Given the description of an element on the screen output the (x, y) to click on. 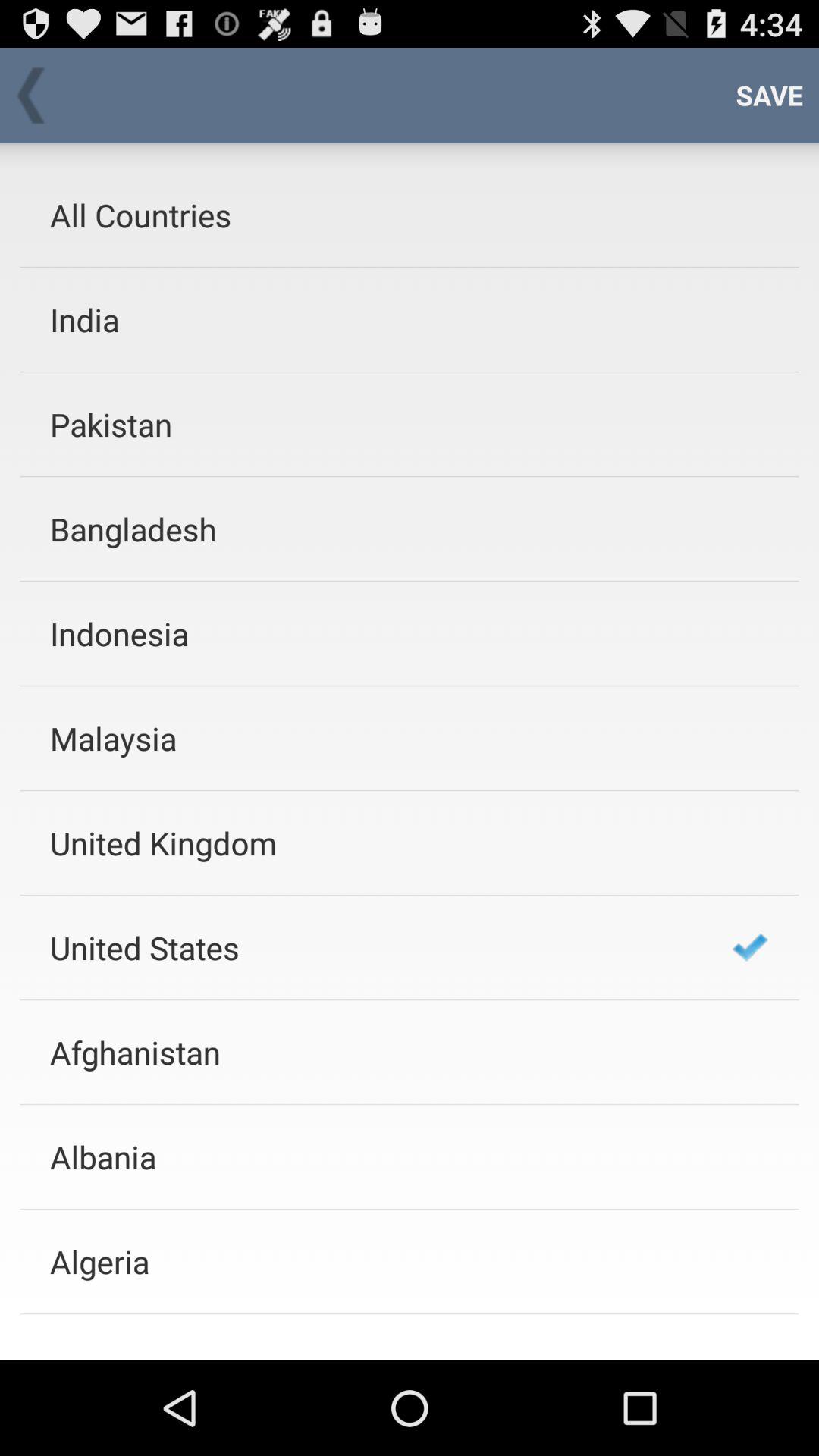
open the item above the united states icon (371, 842)
